Given the description of an element on the screen output the (x, y) to click on. 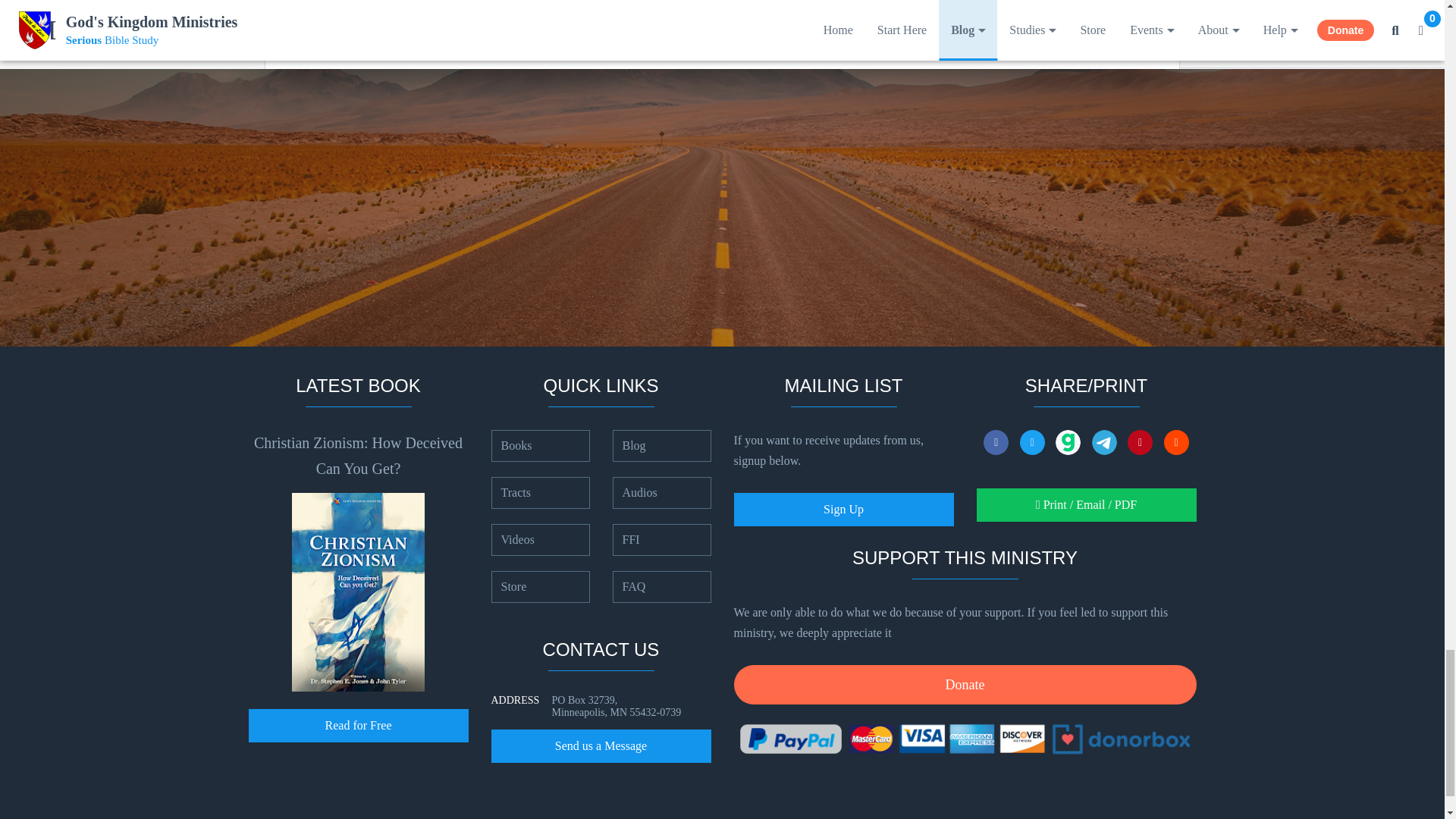
Printer Friendly and PDF (1086, 504)
